Given the description of an element on the screen output the (x, y) to click on. 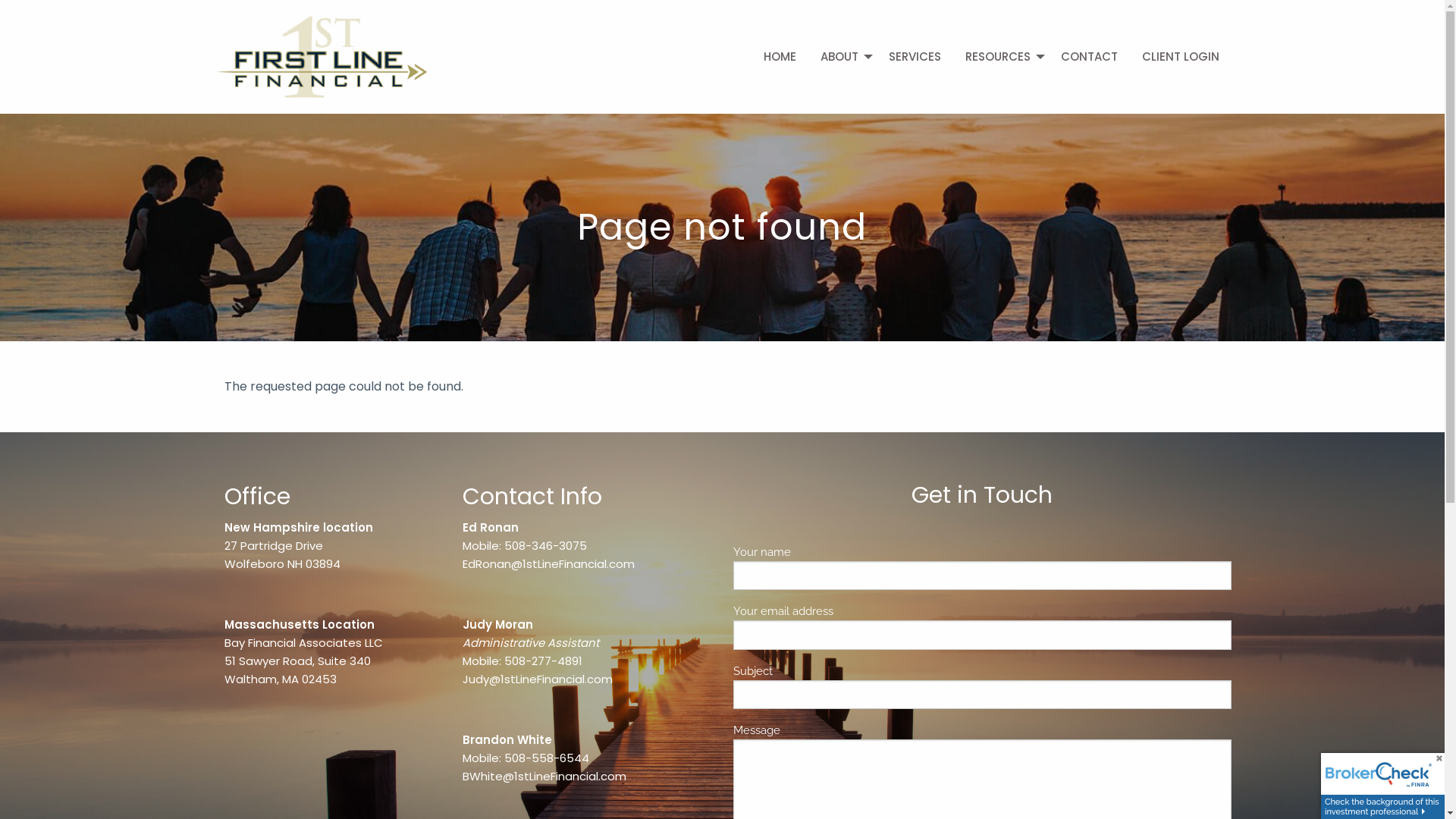
CONTACT Element type: text (1088, 56)
Judy@1stLineFinancial.com Element type: text (537, 679)
RESOURCES Element type: text (1000, 56)
EdRonan@1stLineFinancial.com Element type: text (548, 563)
HOME Element type: text (779, 56)
CLIENT LOGIN Element type: text (1180, 56)
ABOUT Element type: text (842, 56)
BWhite@1stLineFinancial.com Element type: text (544, 776)
SERVICES Element type: text (914, 56)
Skip to main content Element type: text (0, 0)
